Given the description of an element on the screen output the (x, y) to click on. 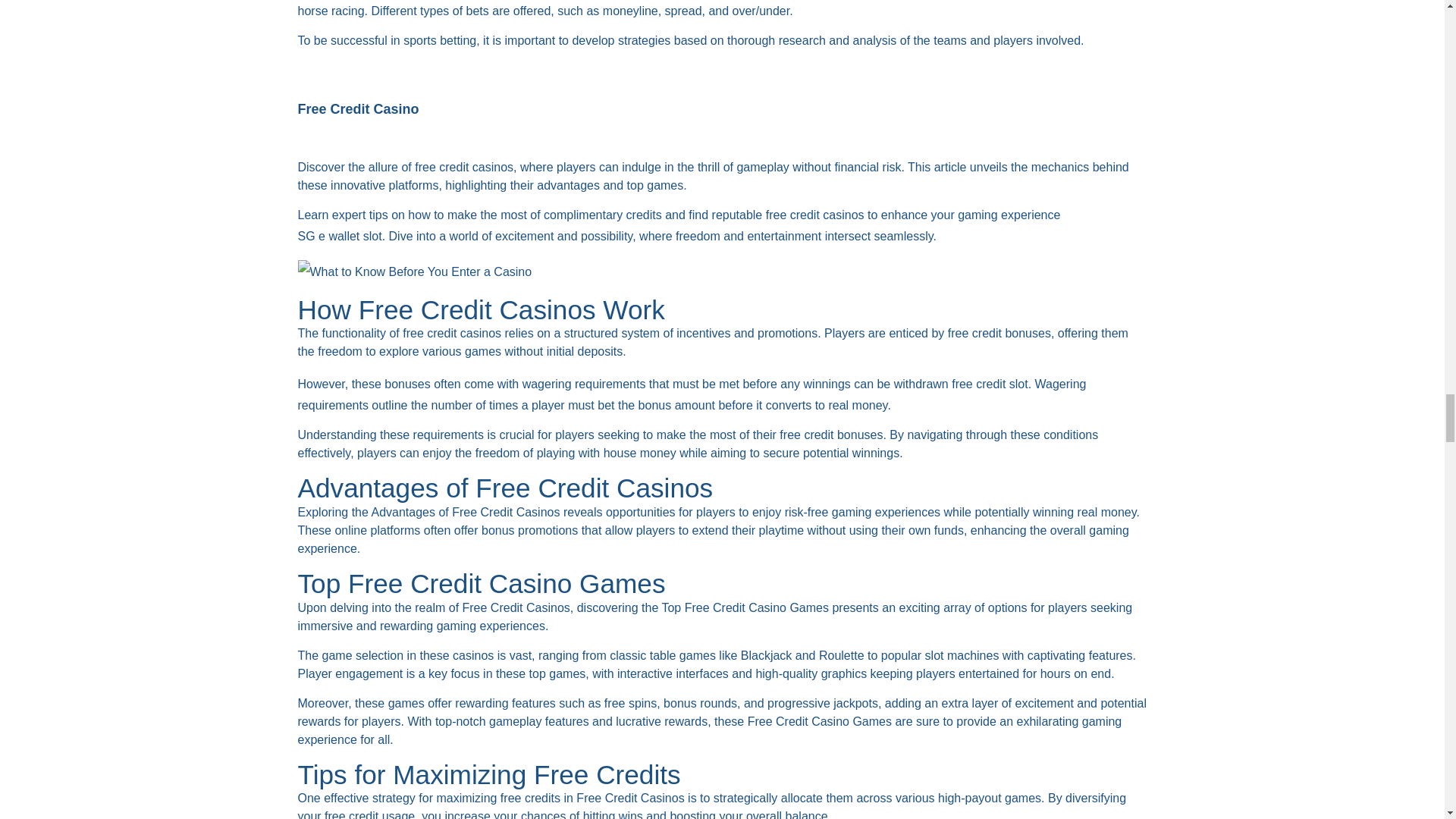
SG e wallet slot (339, 236)
Free Credit Casino (358, 109)
free credit slot (989, 384)
